Given the description of an element on the screen output the (x, y) to click on. 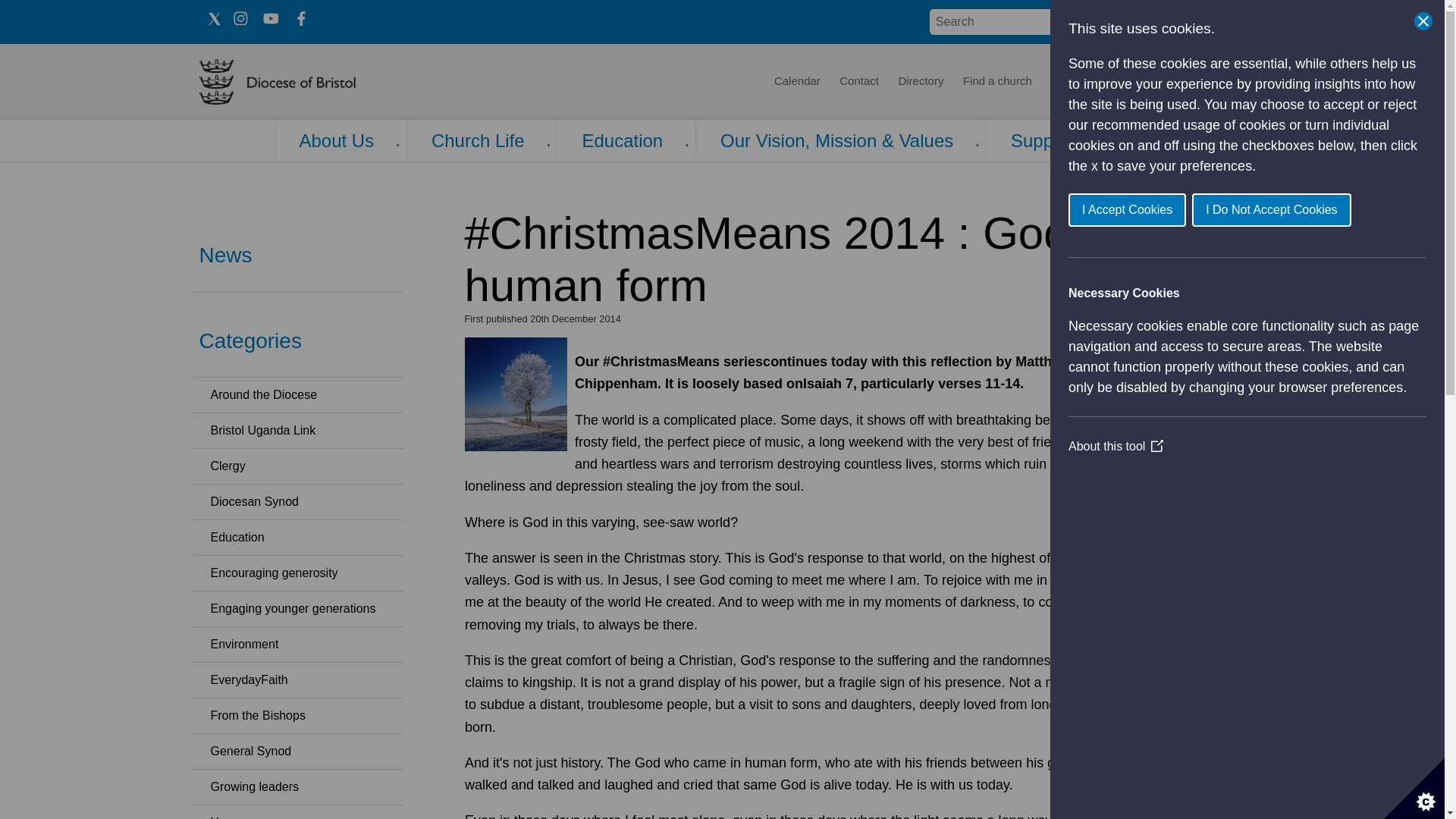
Calendar (797, 81)
Find a church (997, 81)
Directory (920, 81)
Contact (858, 81)
Vacancies (1124, 81)
Logo (323, 81)
Safeguarding (1203, 81)
